Given the description of an element on the screen output the (x, y) to click on. 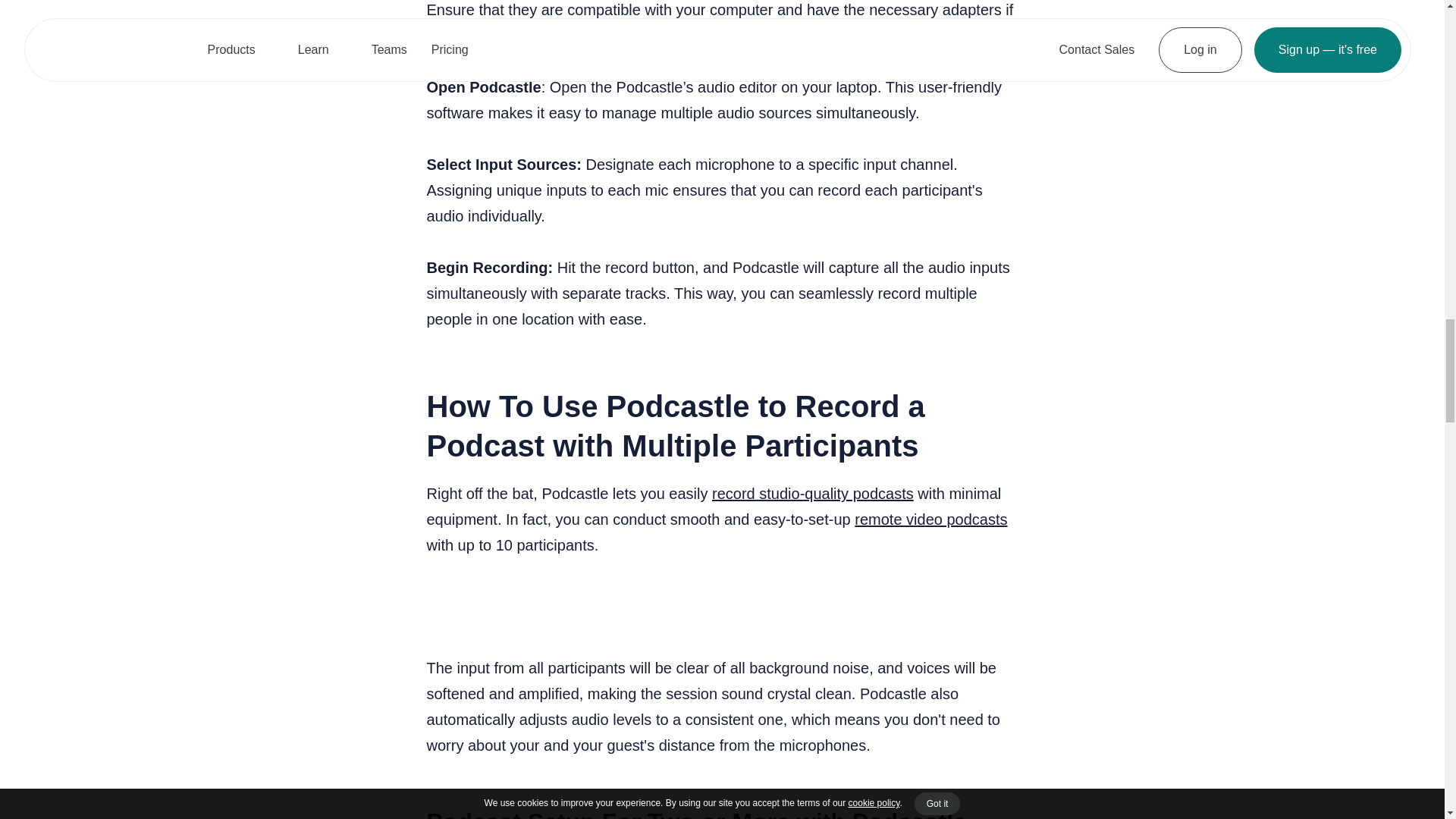
remote video podcasts (930, 519)
record studio-quality podcasts (812, 493)
